Given the description of an element on the screen output the (x, y) to click on. 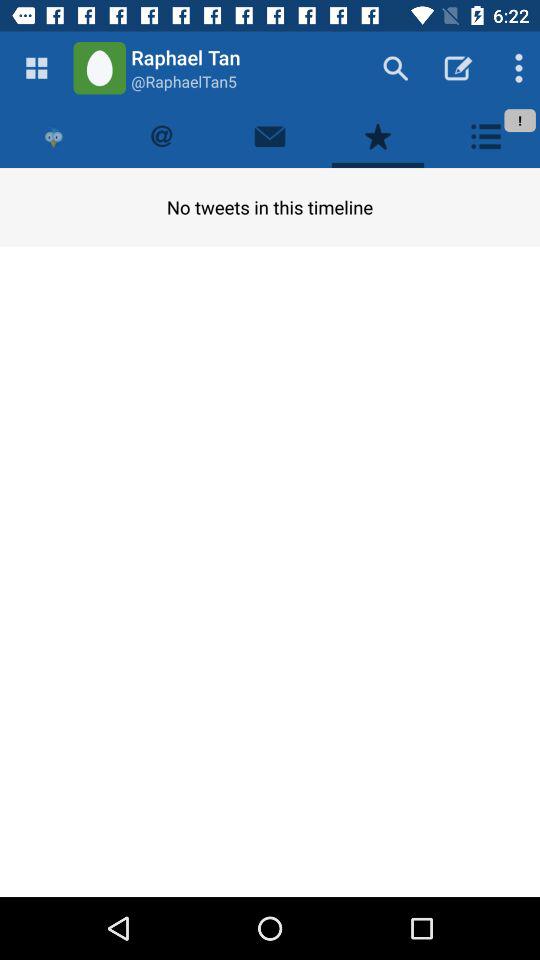
send email (270, 136)
